Given the description of an element on the screen output the (x, y) to click on. 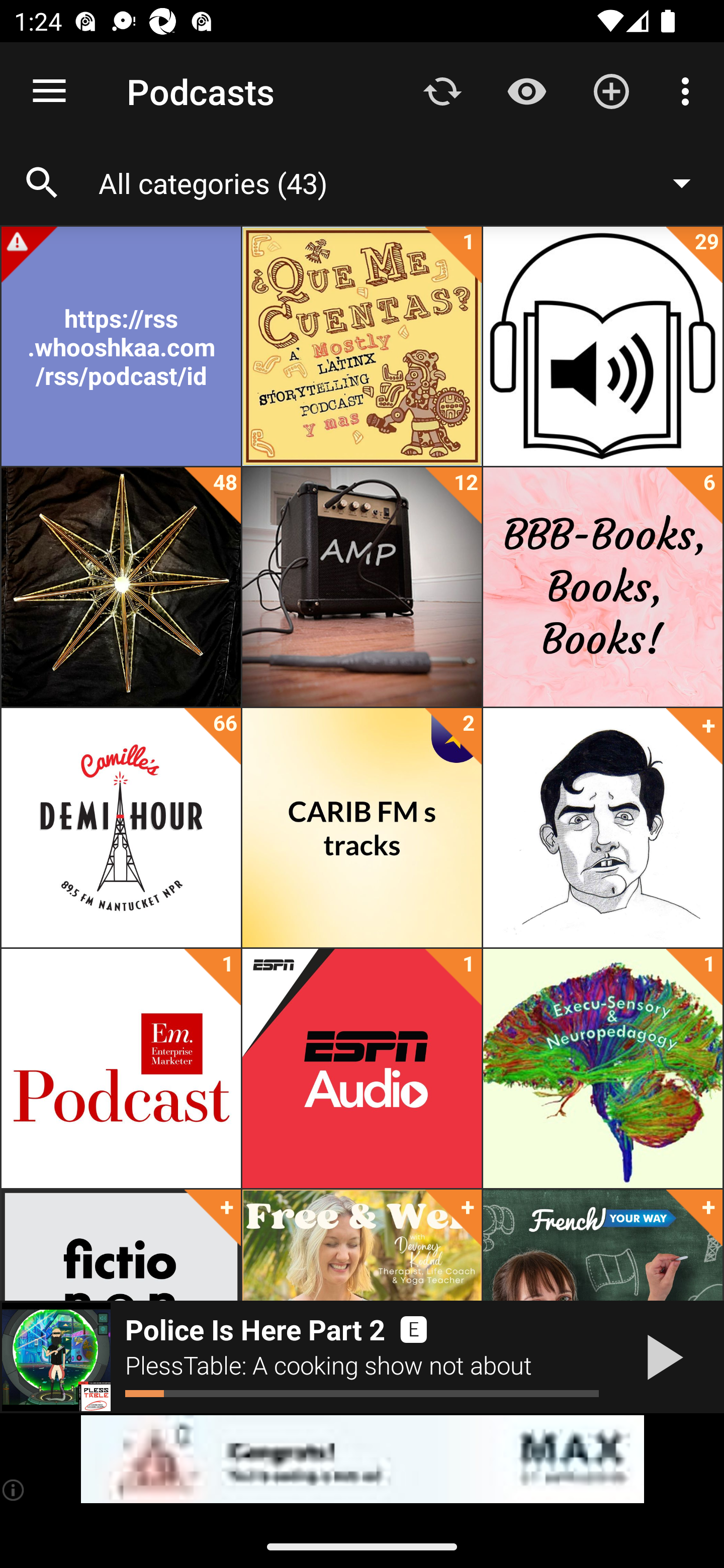
Open navigation sidebar (49, 91)
Update (442, 90)
Show / Hide played content (526, 90)
Add new Podcast (611, 90)
More options (688, 90)
Search (42, 183)
All categories (43) (404, 182)
https://rss.whooshkaa.com/rss/podcast/id/5884 (121, 346)
¿Qué Me Cuentas?: Latinx Storytelling 1 (361, 346)
Audiobooks 29 (602, 346)
Audiobooks 48 (121, 587)
Australian Music Podcasts 12 (361, 587)
BBB-Books, Books, Books! 6 (602, 587)
Camille's Demi-Hour - NANTUCKET NPR 66 (121, 827)
CARIB FM's tracks 2 (361, 827)
Cooking Issues with Dave Arnold + (602, 827)
Enterprise Marketer Podcast - Conference 1 (121, 1068)
ESPN Audio 1 (361, 1068)
Play / Pause (660, 1356)
app-monetization (362, 1459)
(i) (14, 1489)
